Given the description of an element on the screen output the (x, y) to click on. 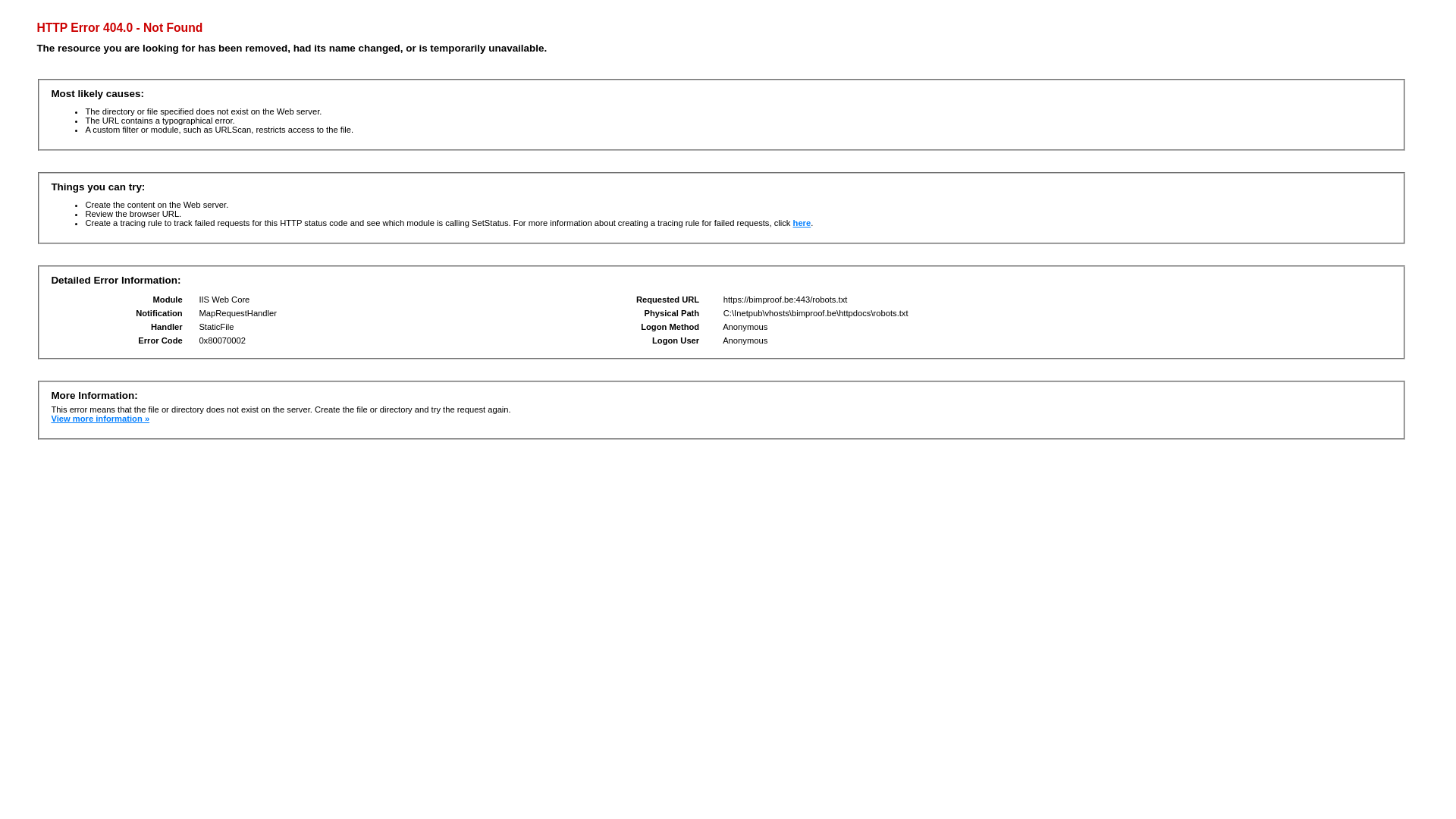
here Element type: text (802, 222)
